Given the description of an element on the screen output the (x, y) to click on. 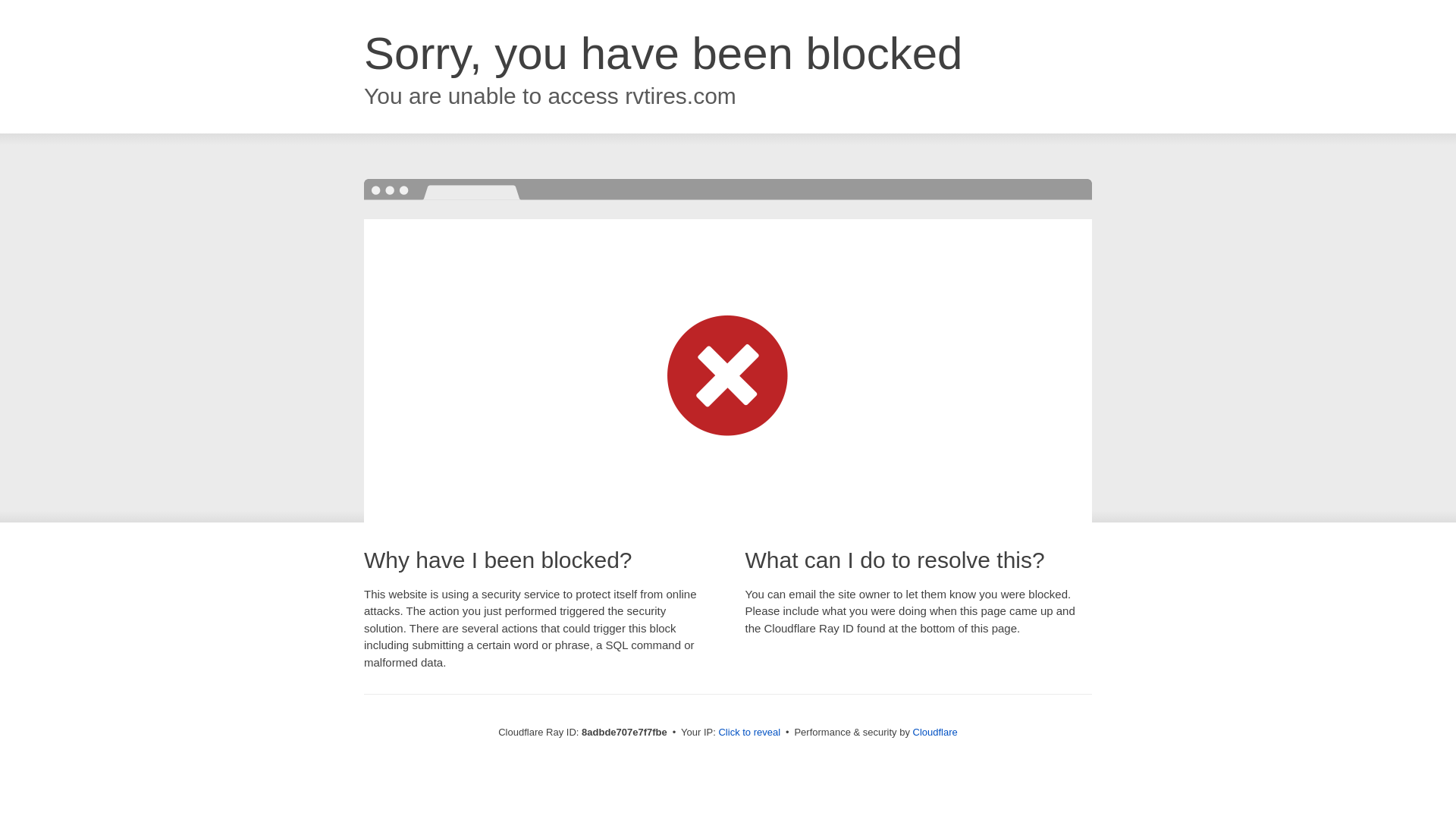
Click to reveal (748, 732)
Cloudflare (935, 731)
